Given the description of an element on the screen output the (x, y) to click on. 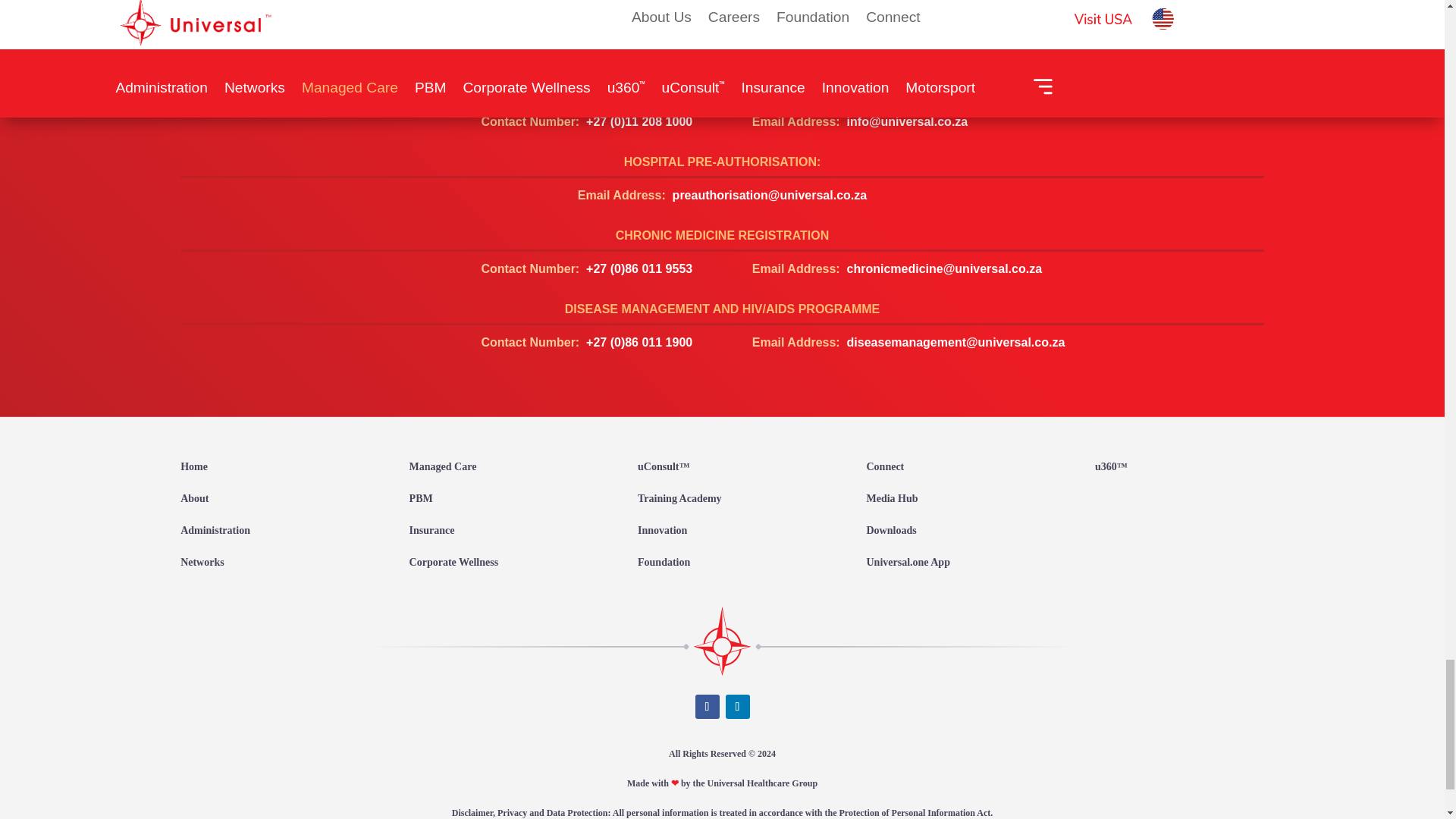
Request a Call Back (721, 78)
Follow on Facebook (706, 706)
Follow on LinkedIn (737, 706)
div-footer (721, 640)
